Given the description of an element on the screen output the (x, y) to click on. 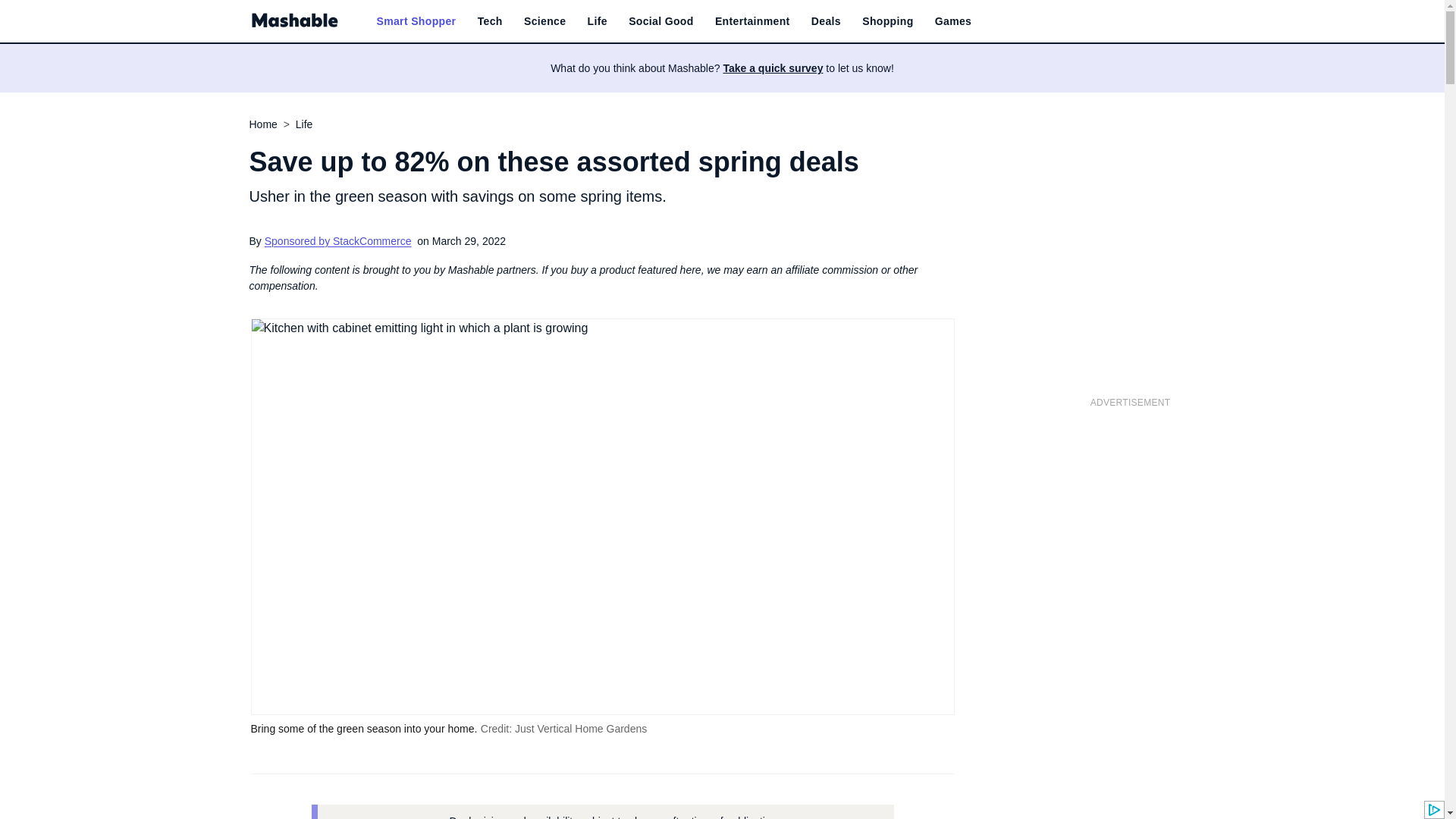
Science (545, 21)
Social Good (661, 21)
Life (597, 21)
Games (952, 21)
Deals (825, 21)
Smart Shopper (415, 21)
Entertainment (752, 21)
Shopping (886, 21)
Tech (489, 21)
